Given the description of an element on the screen output the (x, y) to click on. 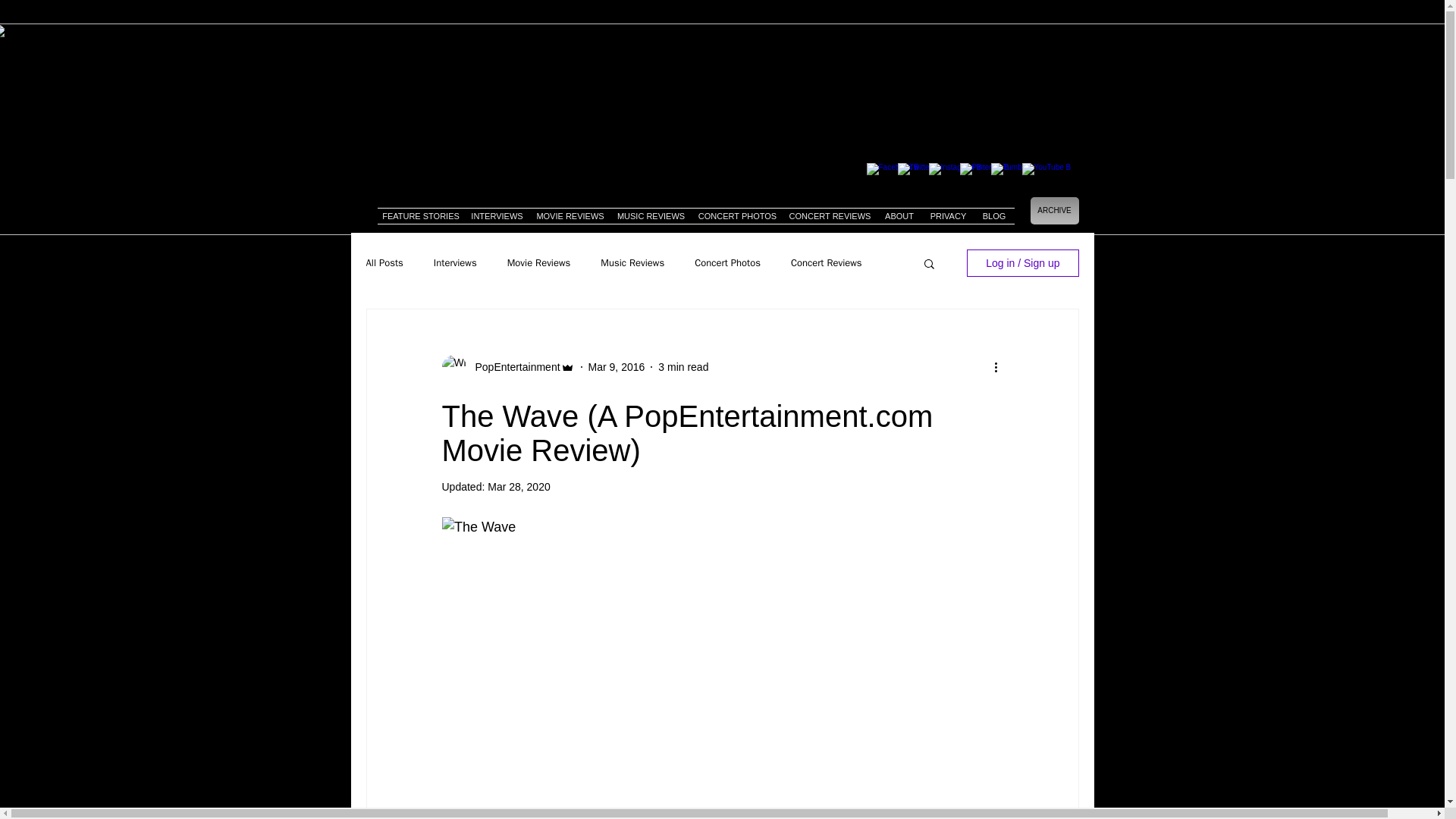
INTERVIEWS (496, 216)
Interviews (455, 263)
CONCERT PHOTOS (737, 216)
Music Reviews (631, 263)
BLOG (993, 216)
ARCHIVE (1053, 210)
PopEntertainment (512, 367)
MUSIC REVIEWS (651, 216)
3 min read (682, 367)
Mar 28, 2020 (518, 486)
